Given the description of an element on the screen output the (x, y) to click on. 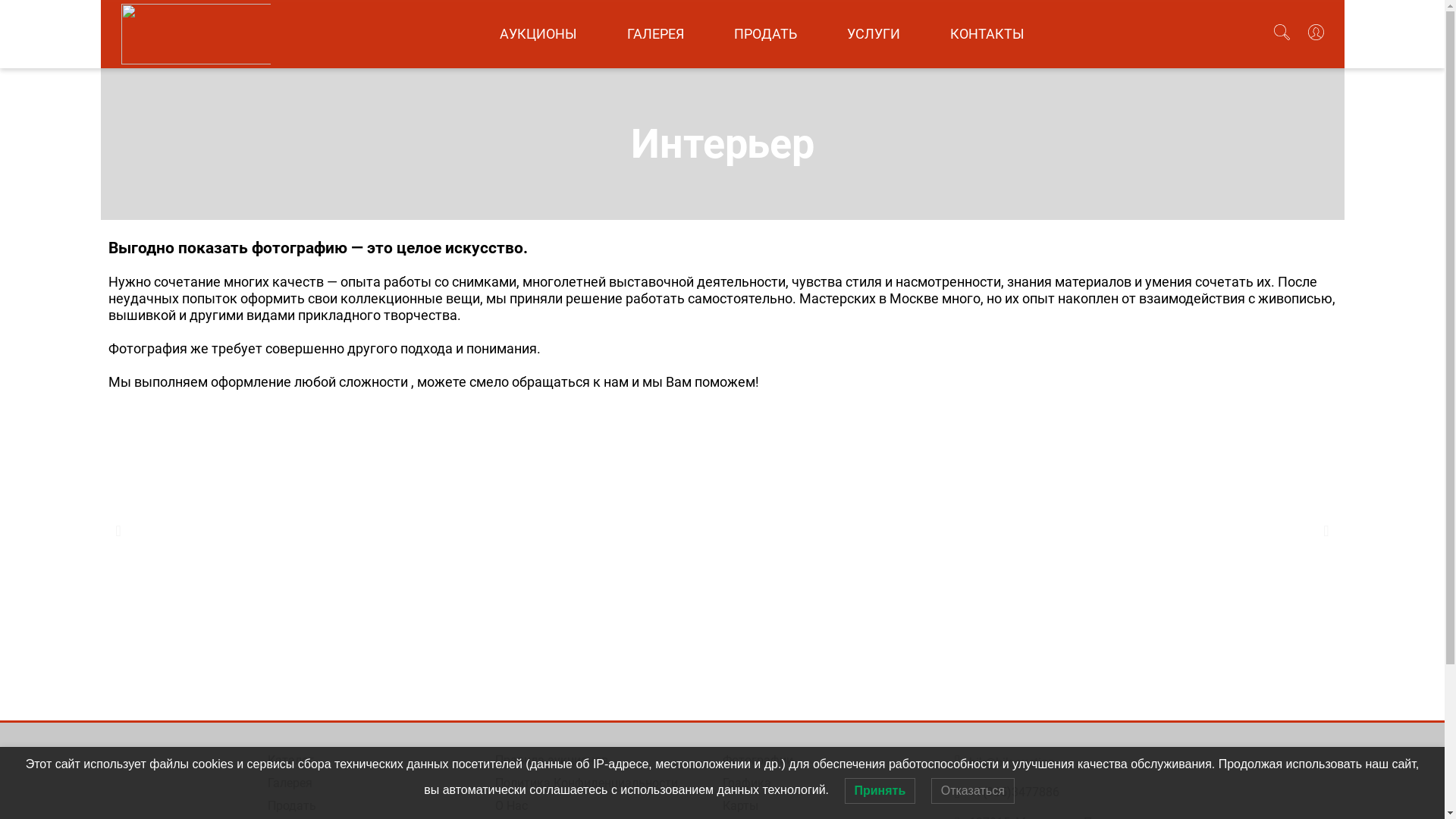
+7(985)3477886 Element type: text (1014, 791)
